Given the description of an element on the screen output the (x, y) to click on. 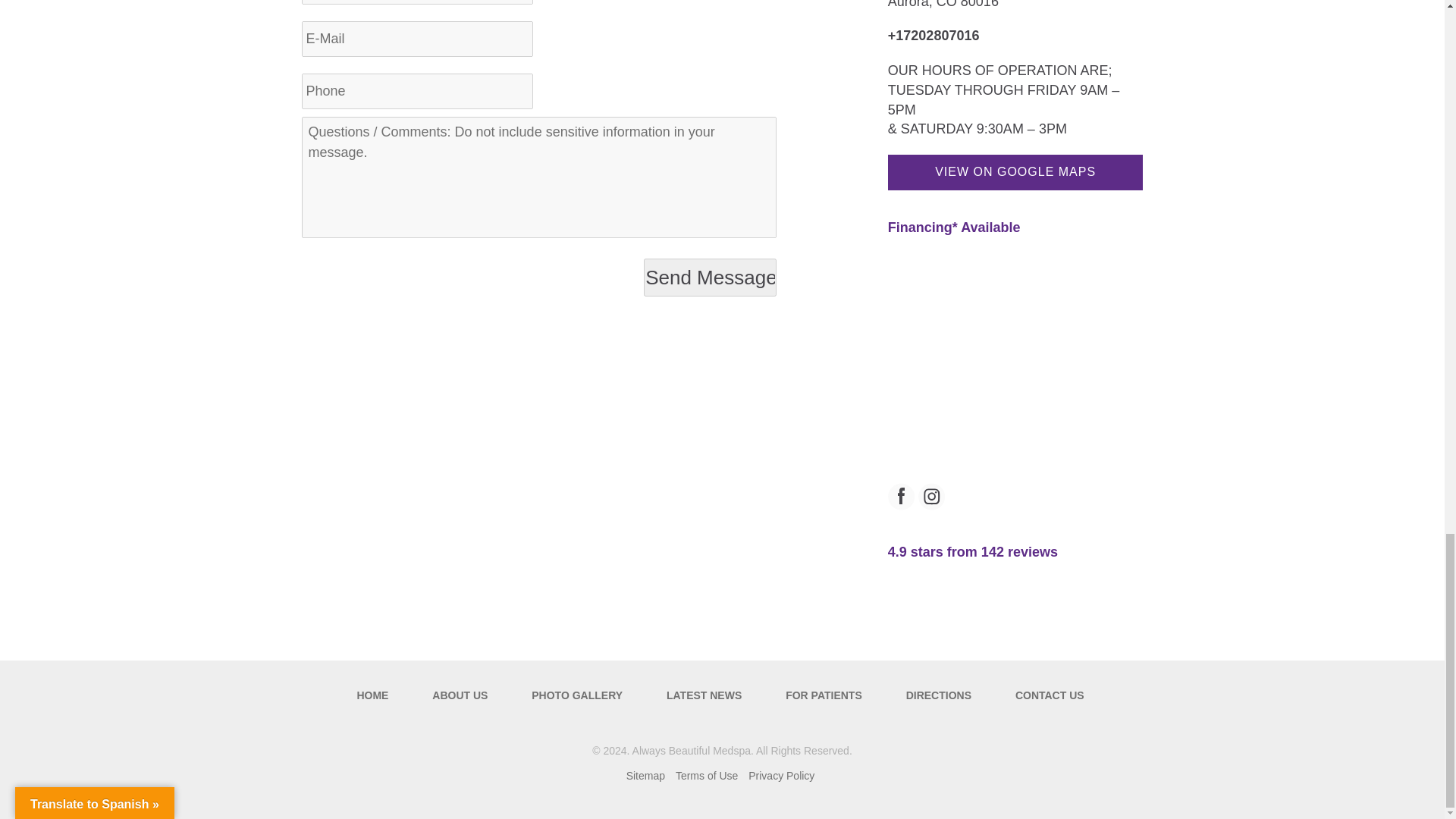
CareCredit (954, 227)
4.9 out of 5 stars (973, 551)
Send Message (709, 277)
